Given the description of an element on the screen output the (x, y) to click on. 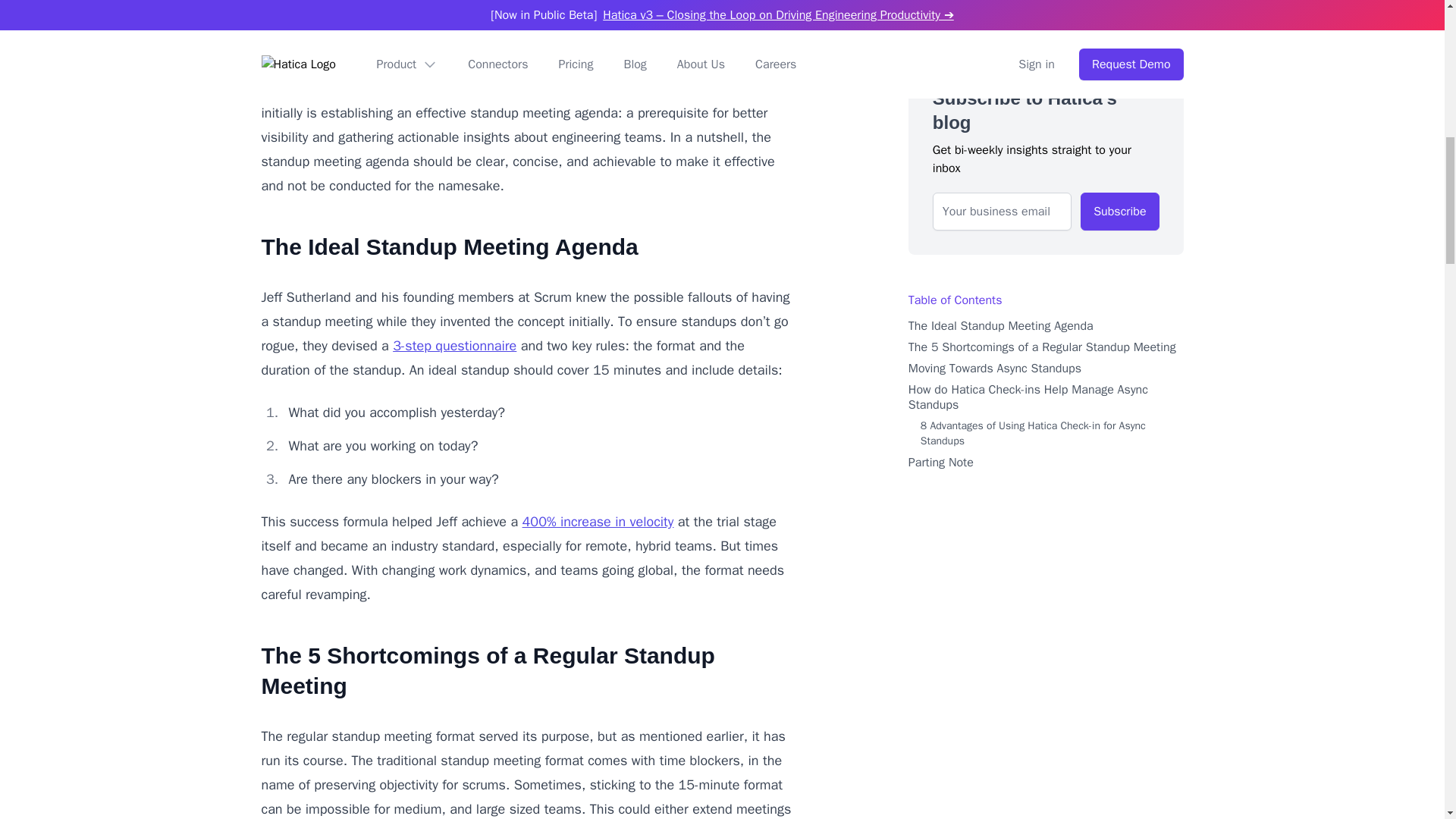
3-step questionnaire (454, 345)
